Given the description of an element on the screen output the (x, y) to click on. 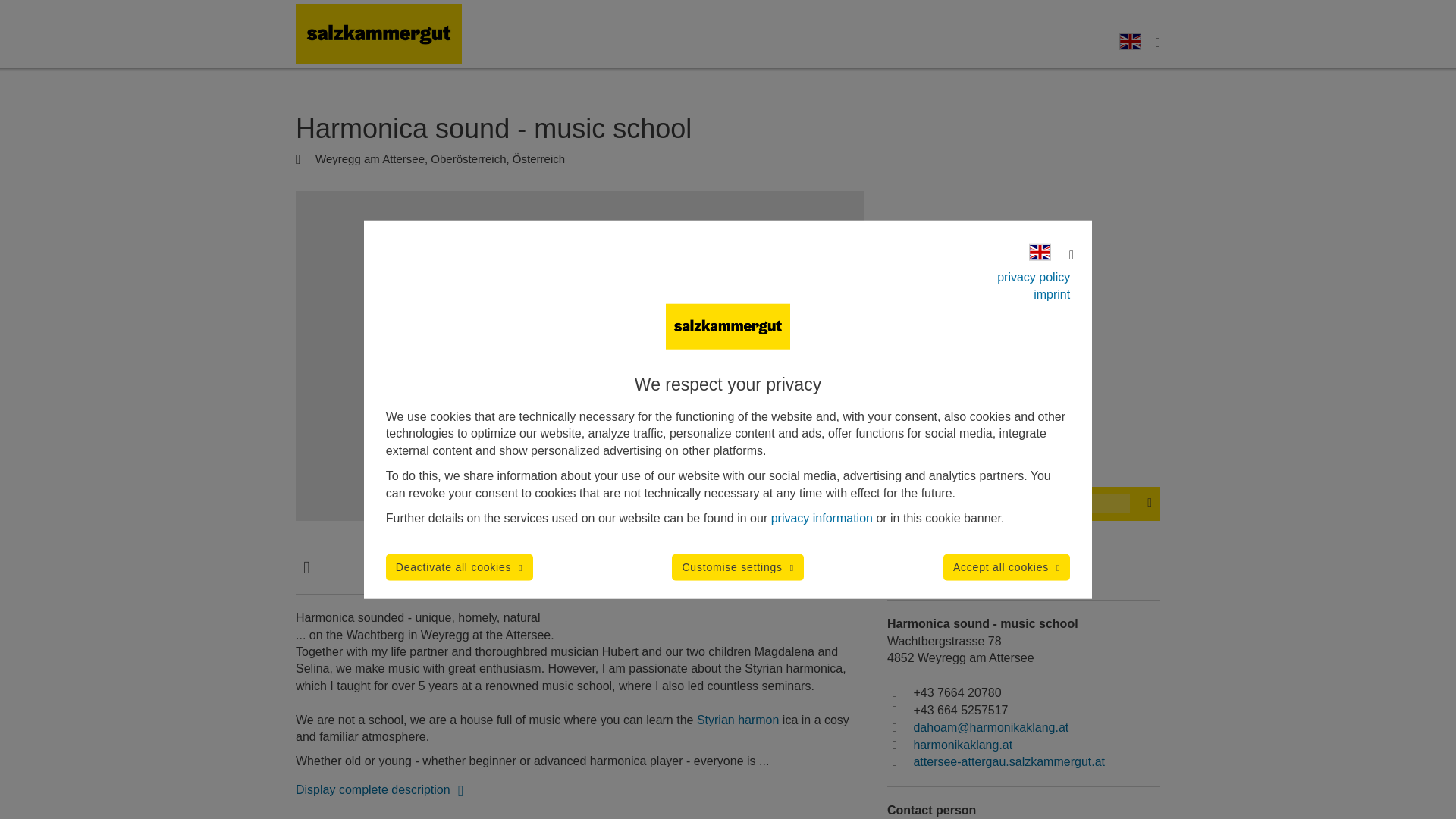
Display complete description (381, 789)
Destinationslogo (378, 34)
harmonikaklang.at (961, 744)
English (1129, 40)
attersee-attergau.salzkammergut.at (1008, 761)
Styrian harmon (740, 719)
